Given the description of an element on the screen output the (x, y) to click on. 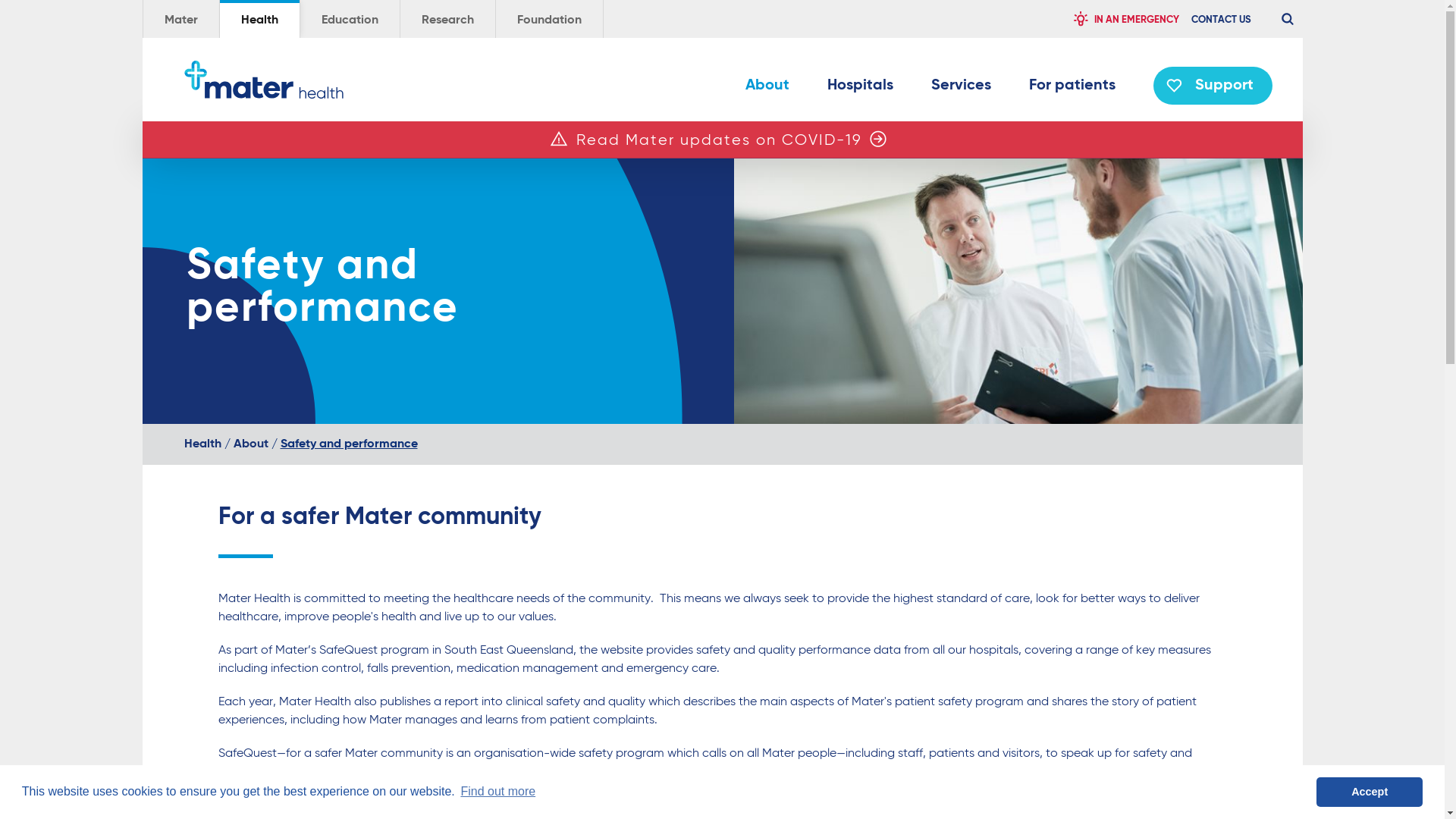
Foundation Element type: text (548, 18)
Health Element type: text (259, 18)
Research Element type: text (447, 18)
Services Element type: text (961, 89)
Hospitals Element type: text (859, 89)
IN AN EMERGENCY Element type: text (1124, 18)
For patients Element type: text (1071, 89)
About Element type: text (766, 89)
Read Mater updates on COVID-19 Element type: text (719, 140)
Health Element type: text (201, 444)
CONTACT US Element type: text (1220, 18)
Accept Element type: text (1369, 791)
Education Element type: text (349, 18)
Mater Element type: text (180, 18)
About Element type: text (250, 444)
Find out more Element type: text (497, 791)
Support Element type: text (1211, 85)
